Given the description of an element on the screen output the (x, y) to click on. 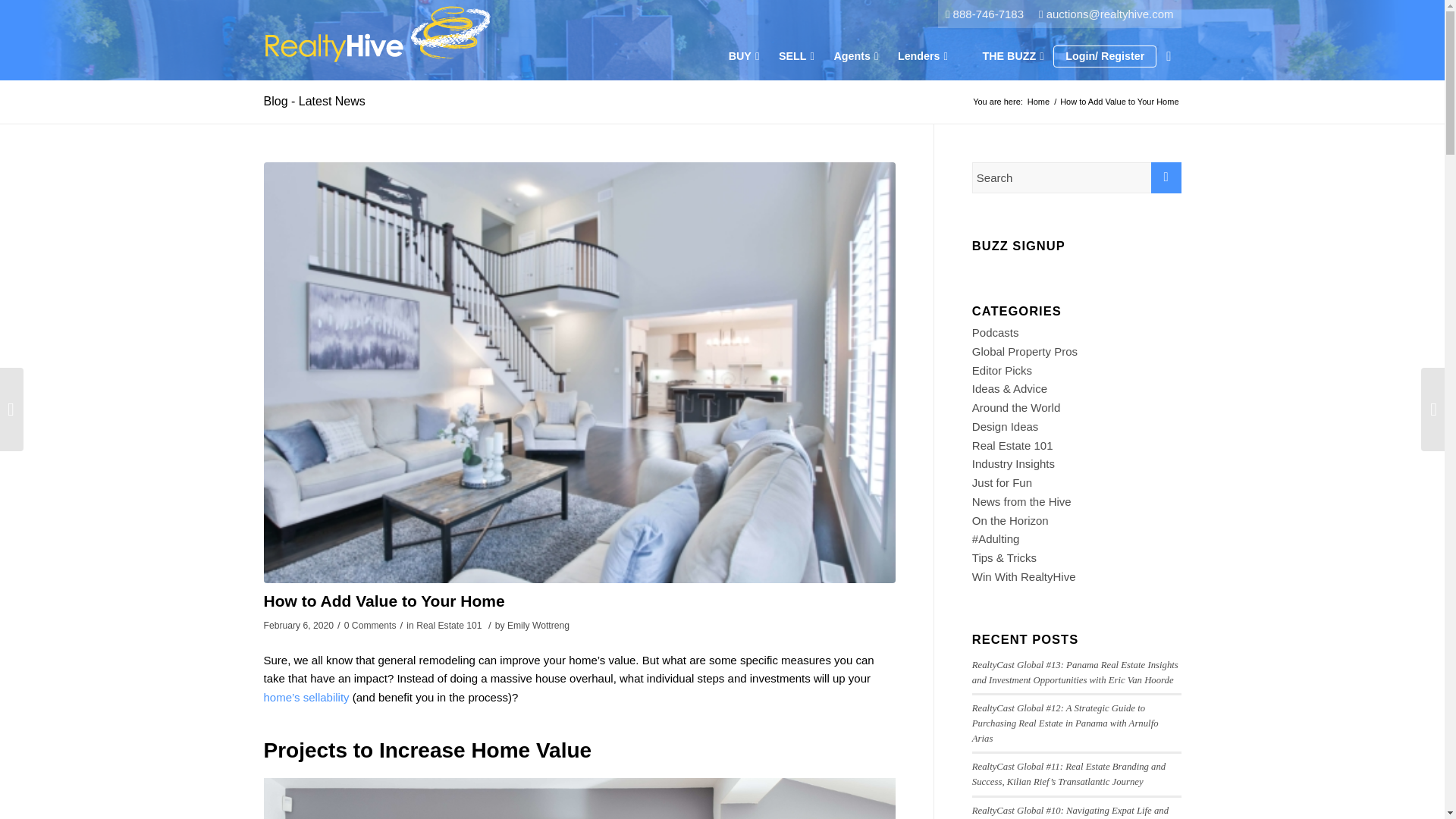
Permanent Link: How to Add Value to Your Home (384, 600)
Real Estate 101 (448, 624)
Lenders (919, 60)
THE BUZZ (1009, 60)
0 Comments (369, 624)
Emily Wottreng (537, 624)
BUY (740, 60)
SELL (792, 60)
BUY (740, 60)
Home (1038, 101)
